Given the description of an element on the screen output the (x, y) to click on. 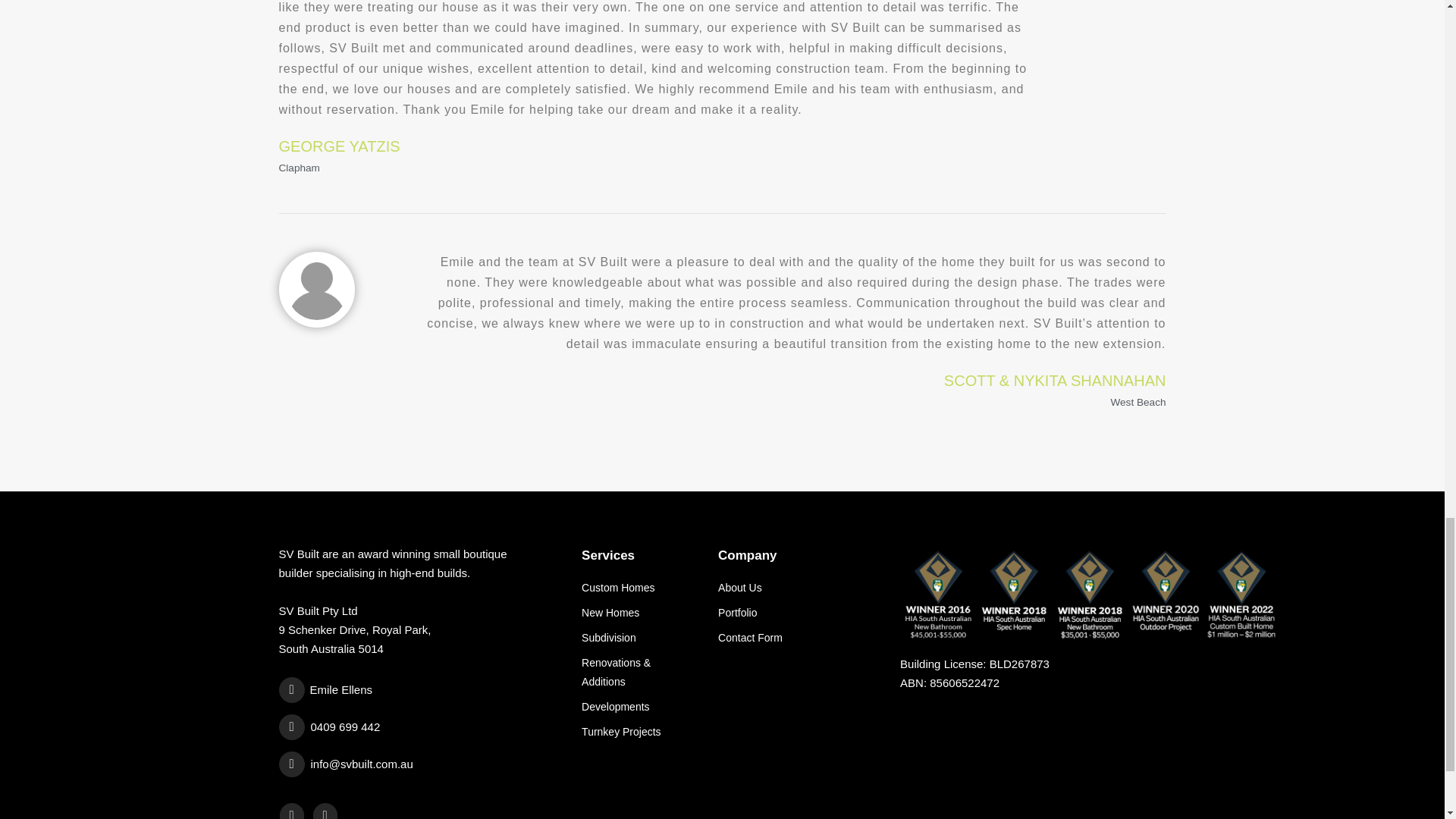
Developments (637, 706)
Subdivision (637, 637)
0409 699 442 (402, 727)
Custom Homes (637, 587)
Subdivision Builder Adelaide (637, 637)
Custom Builders Adelaide (637, 587)
New Home Builders Adelaide (637, 612)
Contact Form (797, 637)
About Us (797, 587)
Turnkey Projects (637, 732)
Portfolio (797, 612)
New Homes (637, 612)
